Given the description of an element on the screen output the (x, y) to click on. 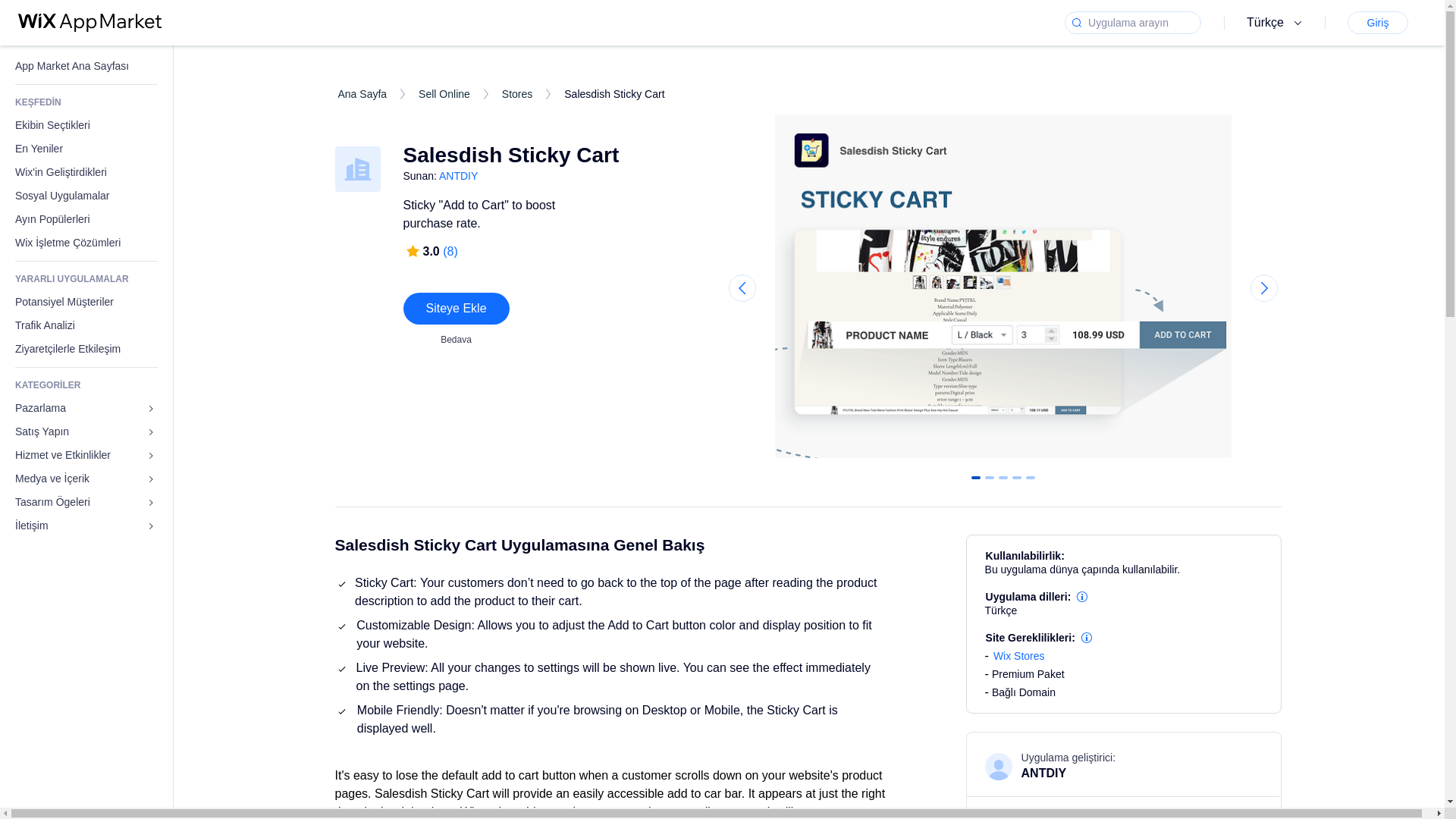
Pazarlama (86, 408)
Sosyal Uygulamalar (86, 196)
En Yeniler (86, 148)
Hizmet ve Etkinlikler (86, 454)
Trafik Analizi (86, 325)
